Given the description of an element on the screen output the (x, y) to click on. 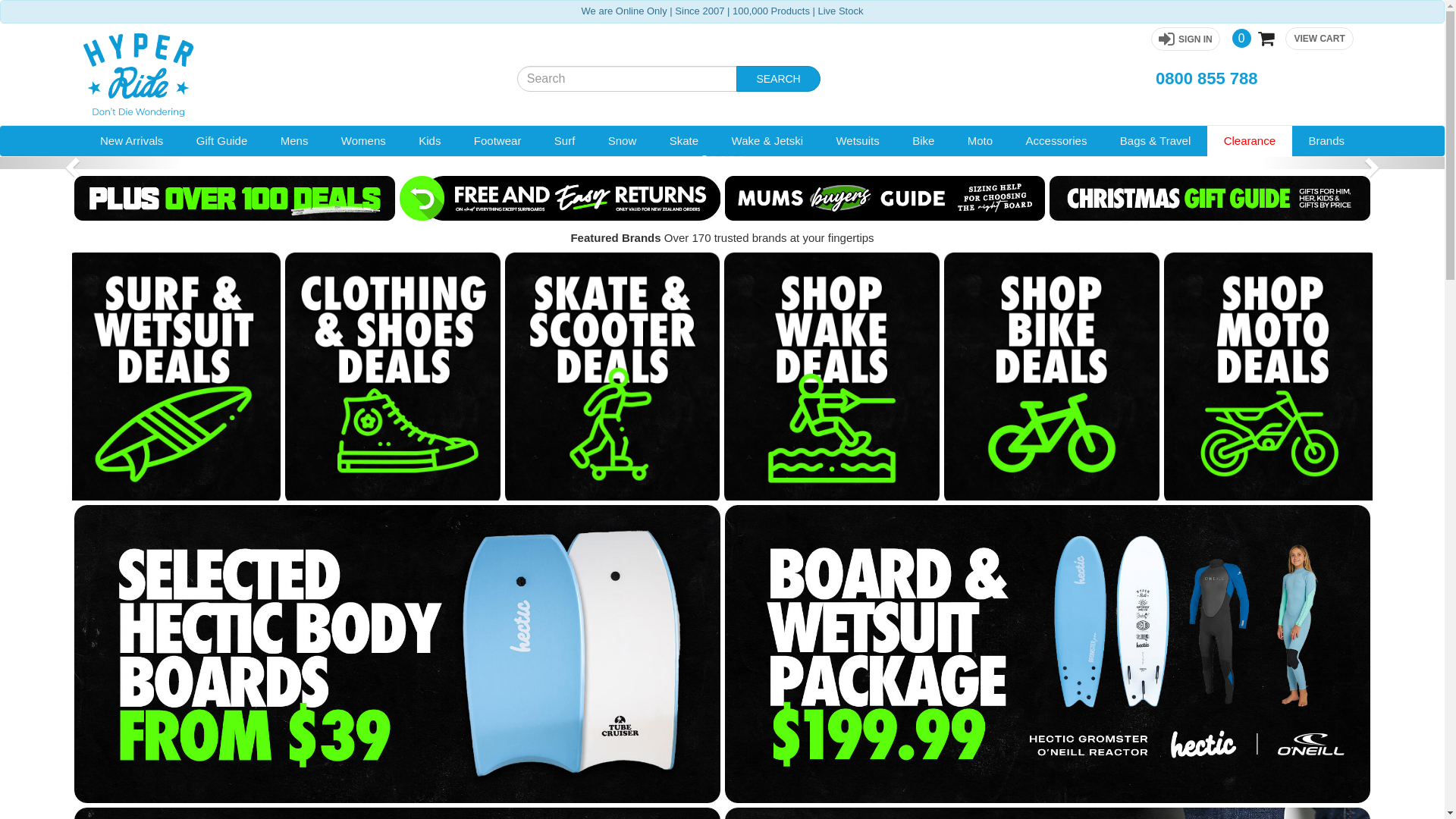
Hyper Ride Element type: hover (288, 74)
Wetsuits Element type: text (857, 140)
Womens Element type: text (362, 140)
Footwear Element type: text (497, 140)
Surf Element type: text (564, 140)
Brands Element type: text (1326, 140)
Kids Element type: text (429, 140)
0800 855 788 Element type: text (1206, 78)
0 VIEW CART Element type: text (1292, 40)
Snow Element type: text (621, 140)
Clearance Element type: text (1249, 140)
New Arrivals Element type: text (131, 140)
Bags & Travel Element type: text (1155, 140)
SIGN IN Element type: text (1185, 38)
SEARCH Element type: text (777, 78)
Mens Element type: text (293, 140)
Gift Guide Element type: text (221, 140)
Wake & Jetski Element type: text (767, 140)
Skate Element type: text (683, 140)
Accessories Element type: text (1056, 140)
Moto Element type: text (979, 140)
Bike Element type: text (922, 140)
